Given the description of an element on the screen output the (x, y) to click on. 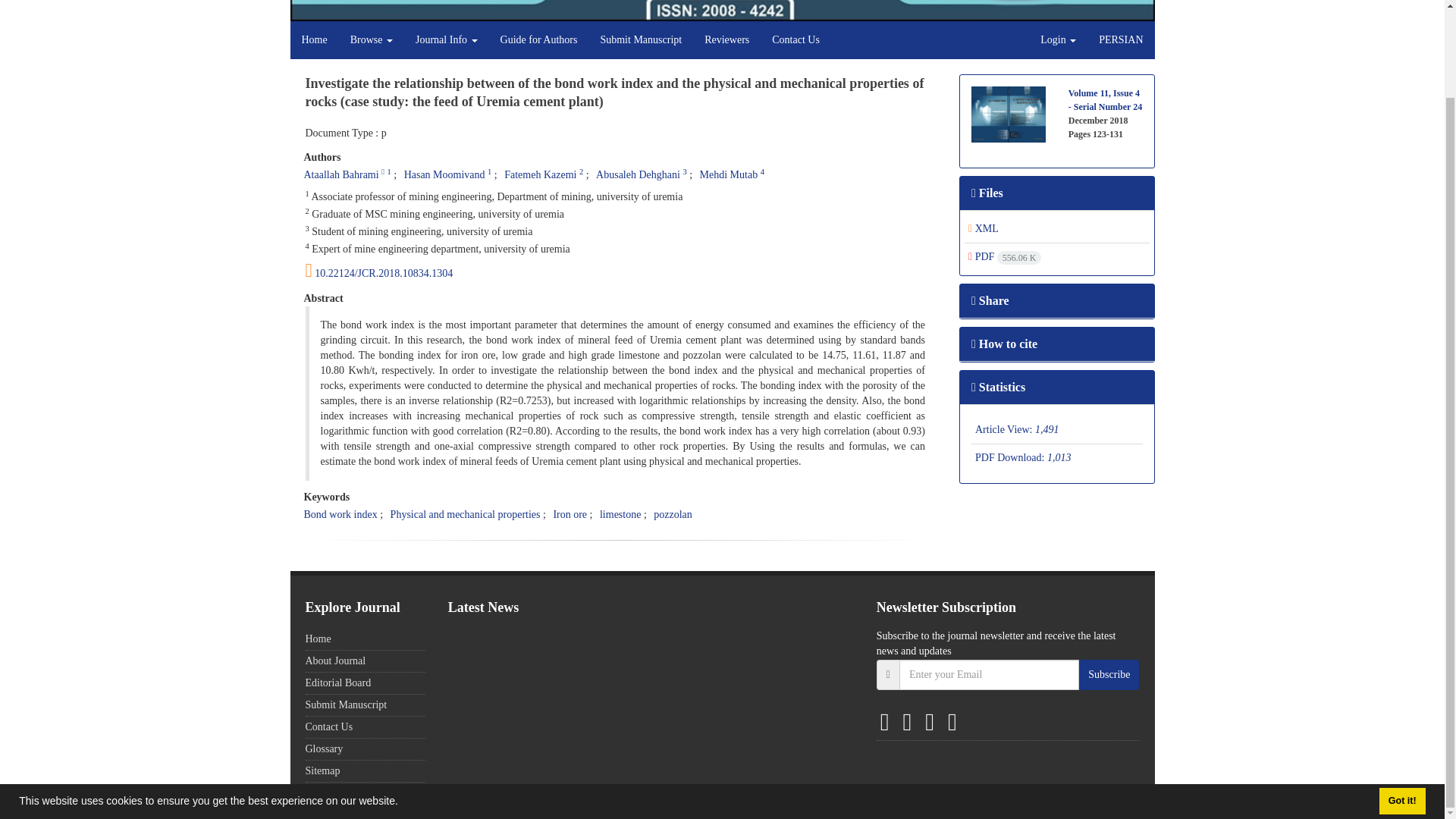
Submit Manuscript (640, 39)
Fatemeh Kazemi (539, 174)
Login (1058, 39)
Guide for Authors (539, 39)
Home (313, 39)
Hasan Moomivand (444, 174)
Mehdi Mutab (729, 174)
Contact Us (795, 39)
Journal Info (446, 39)
Reviewers (726, 39)
